Given the description of an element on the screen output the (x, y) to click on. 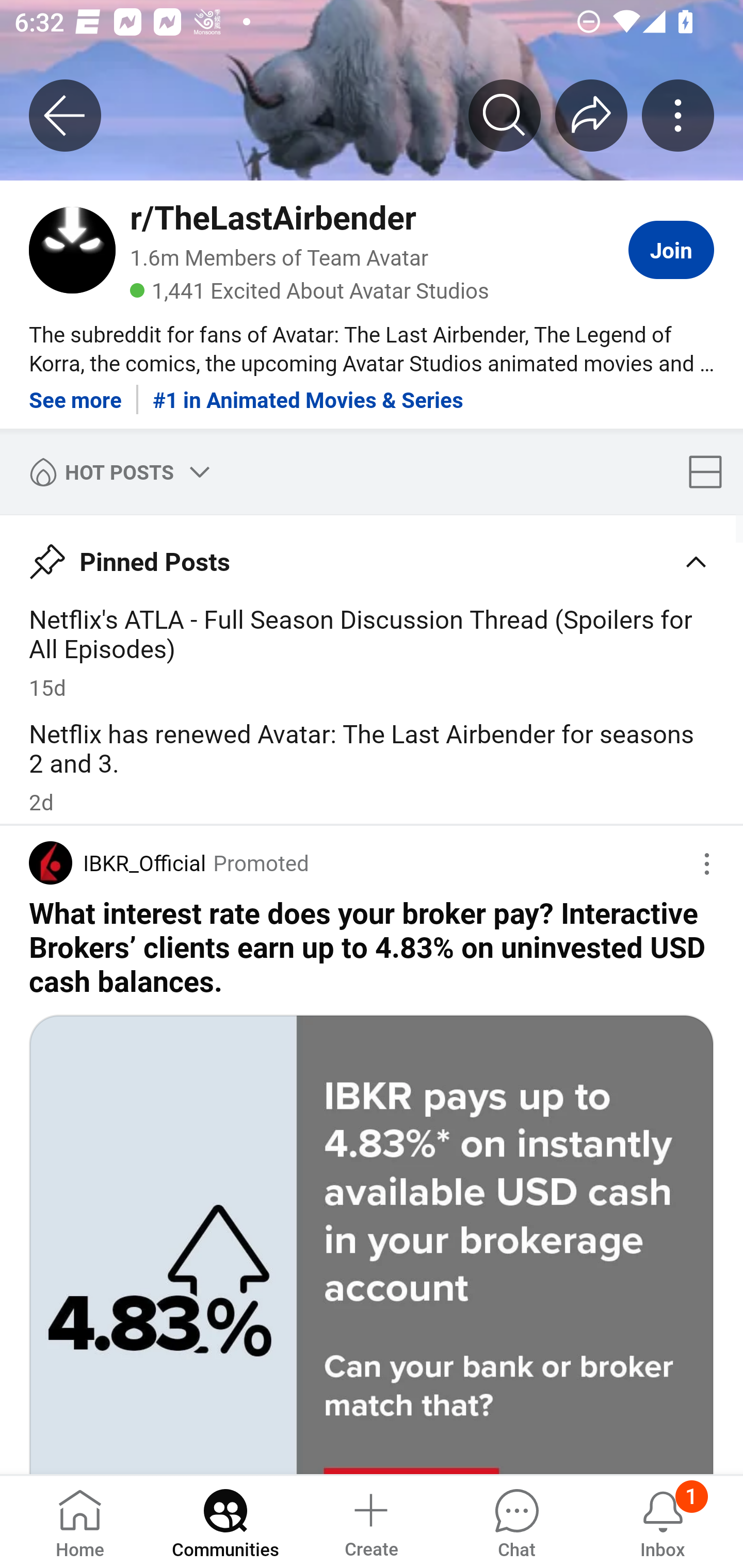
Back (64, 115)
Search r/﻿TheLastAirbender (504, 115)
Share r/﻿TheLastAirbender (591, 115)
More community actions (677, 115)
See more (74, 391)
#1 in Animated Movies & Series (308, 391)
HOT POSTS Sort by Hot posts (115, 471)
Card display (711, 471)
Pin Pinned Posts Caret (371, 554)
Author IBKR_Official (116, 862)
Image (371, 1243)
Home (80, 1520)
Communities (225, 1520)
Create a post Create (370, 1520)
Chat (516, 1520)
Inbox, has 1 notification 1 Inbox (662, 1520)
